Given the description of an element on the screen output the (x, y) to click on. 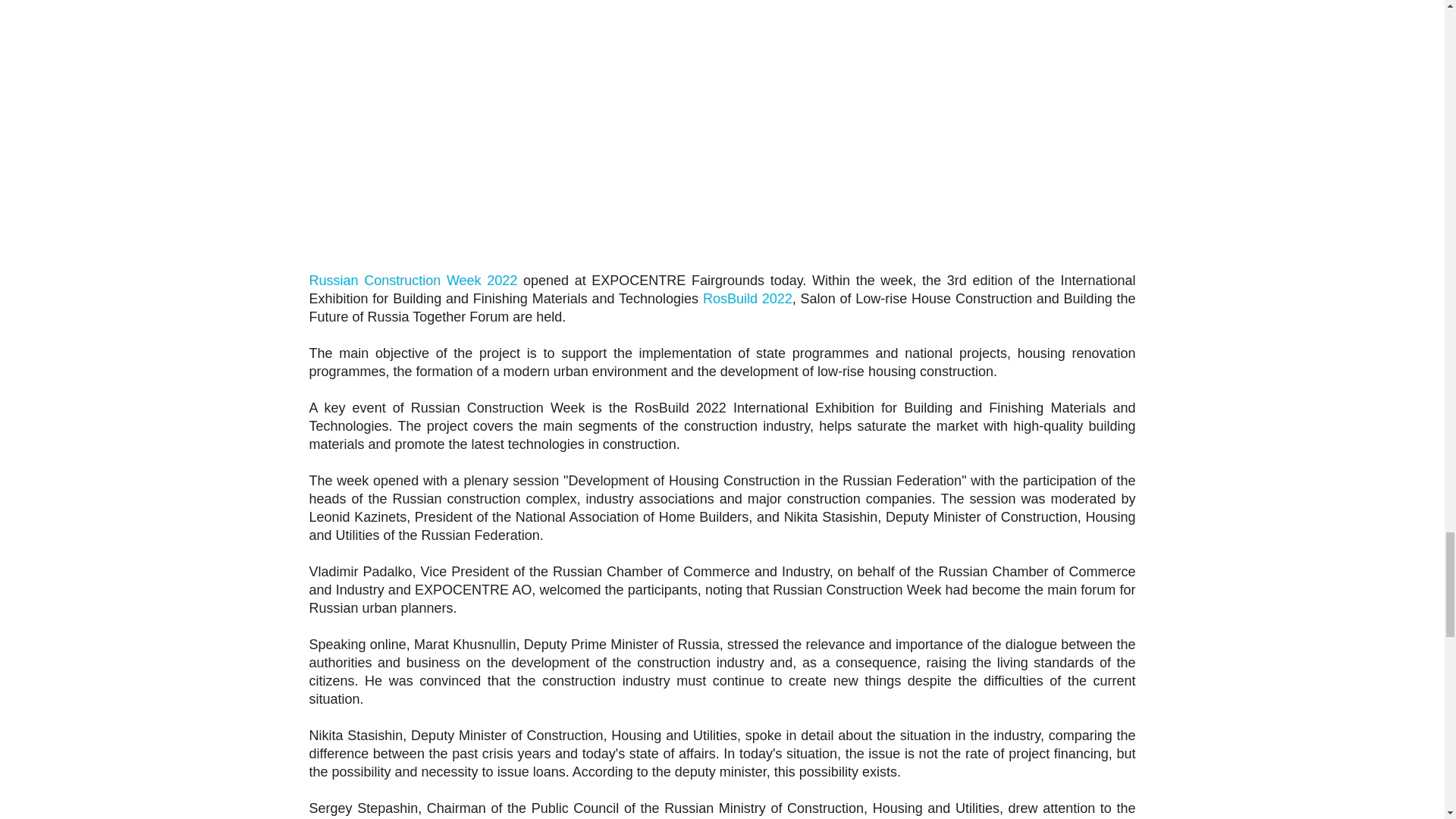
Russian Construction Week 2022 (413, 280)
RosBuild 2022 (747, 298)
